Given the description of an element on the screen output the (x, y) to click on. 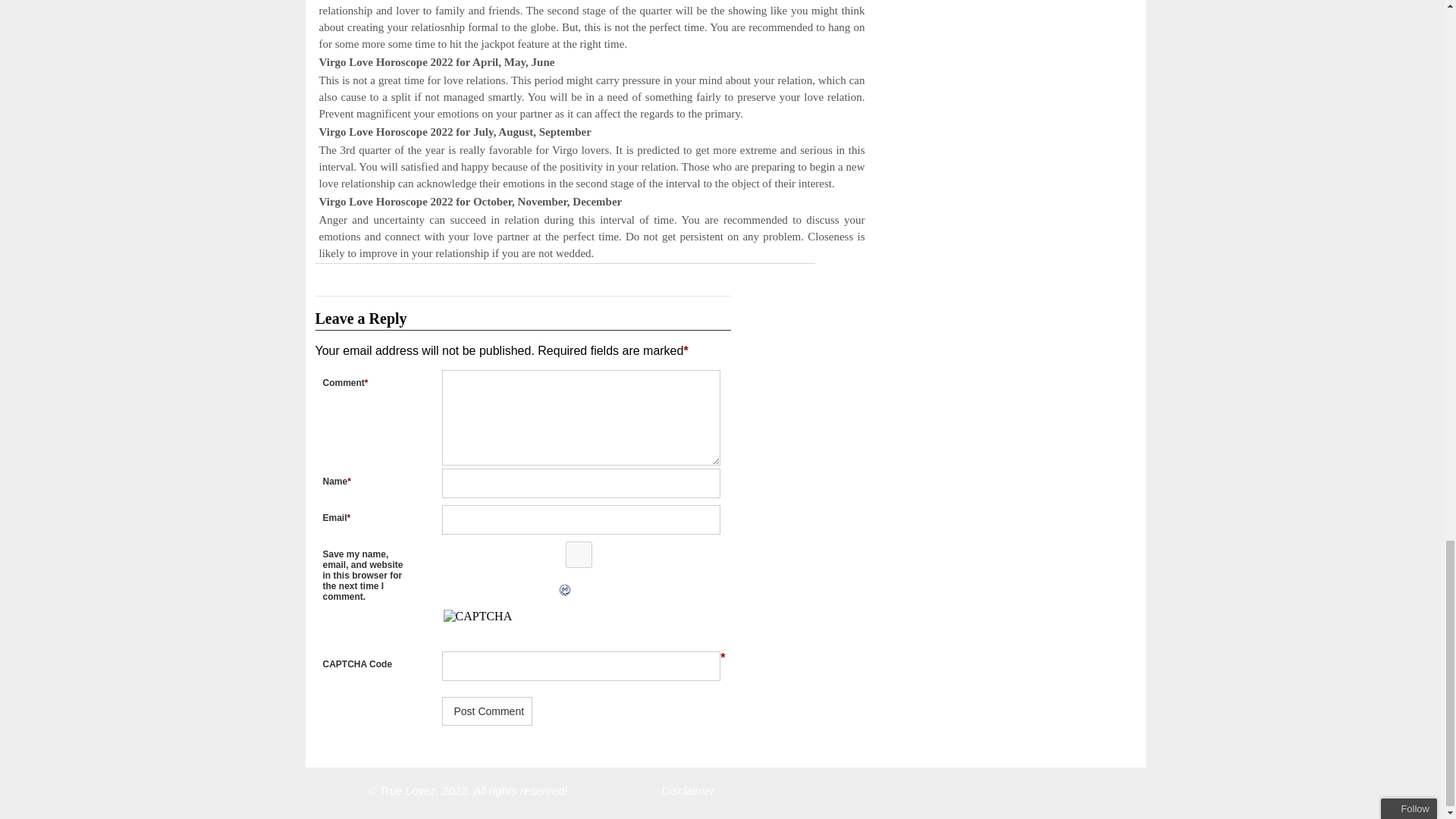
Post Comment (486, 710)
CAPTCHA (494, 626)
yes (578, 554)
Post Comment (486, 710)
Refresh (437, 590)
